Given the description of an element on the screen output the (x, y) to click on. 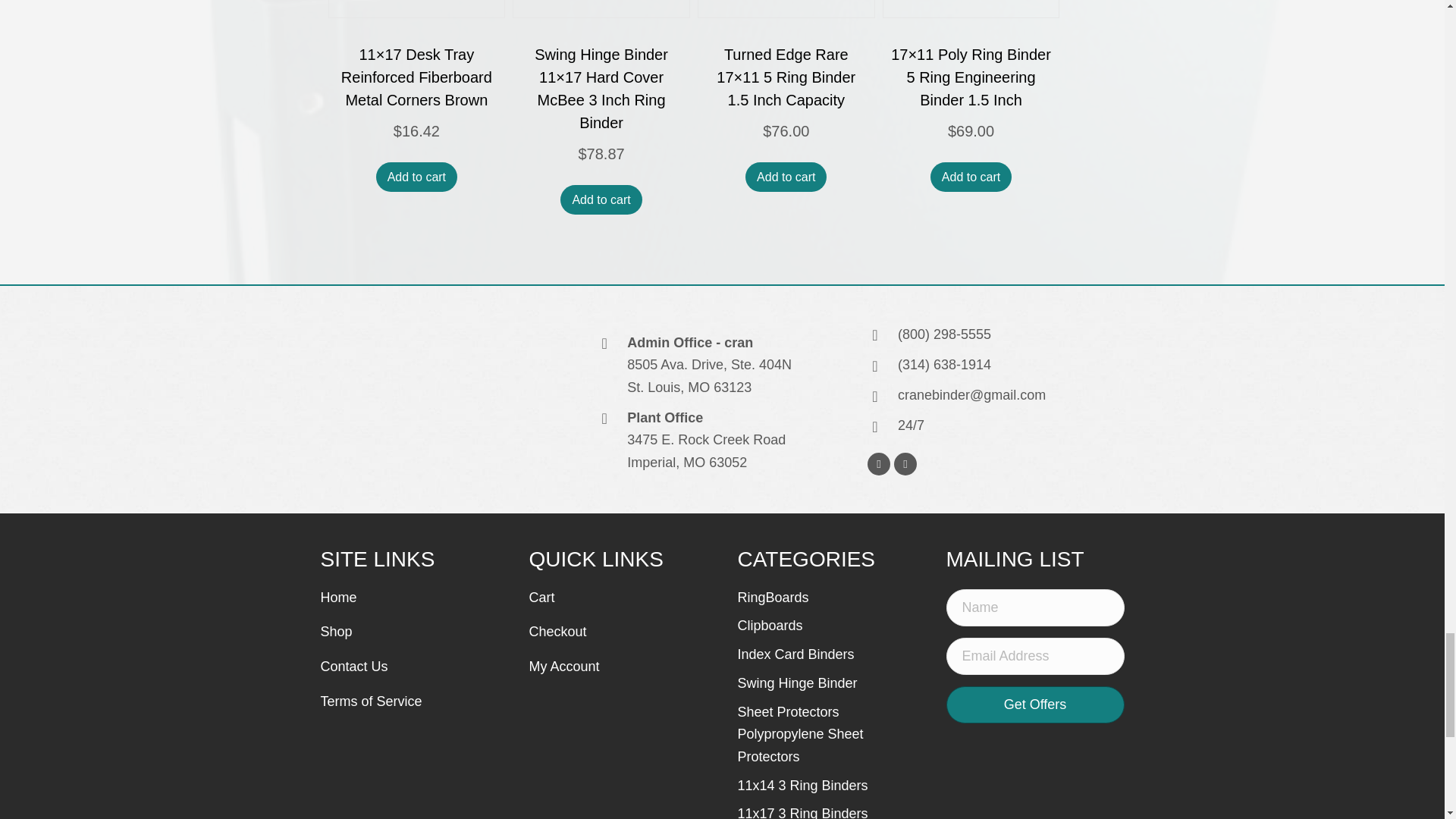
Instagram (905, 463)
Facebook (878, 463)
logosm2 (407, 403)
